Given the description of an element on the screen output the (x, y) to click on. 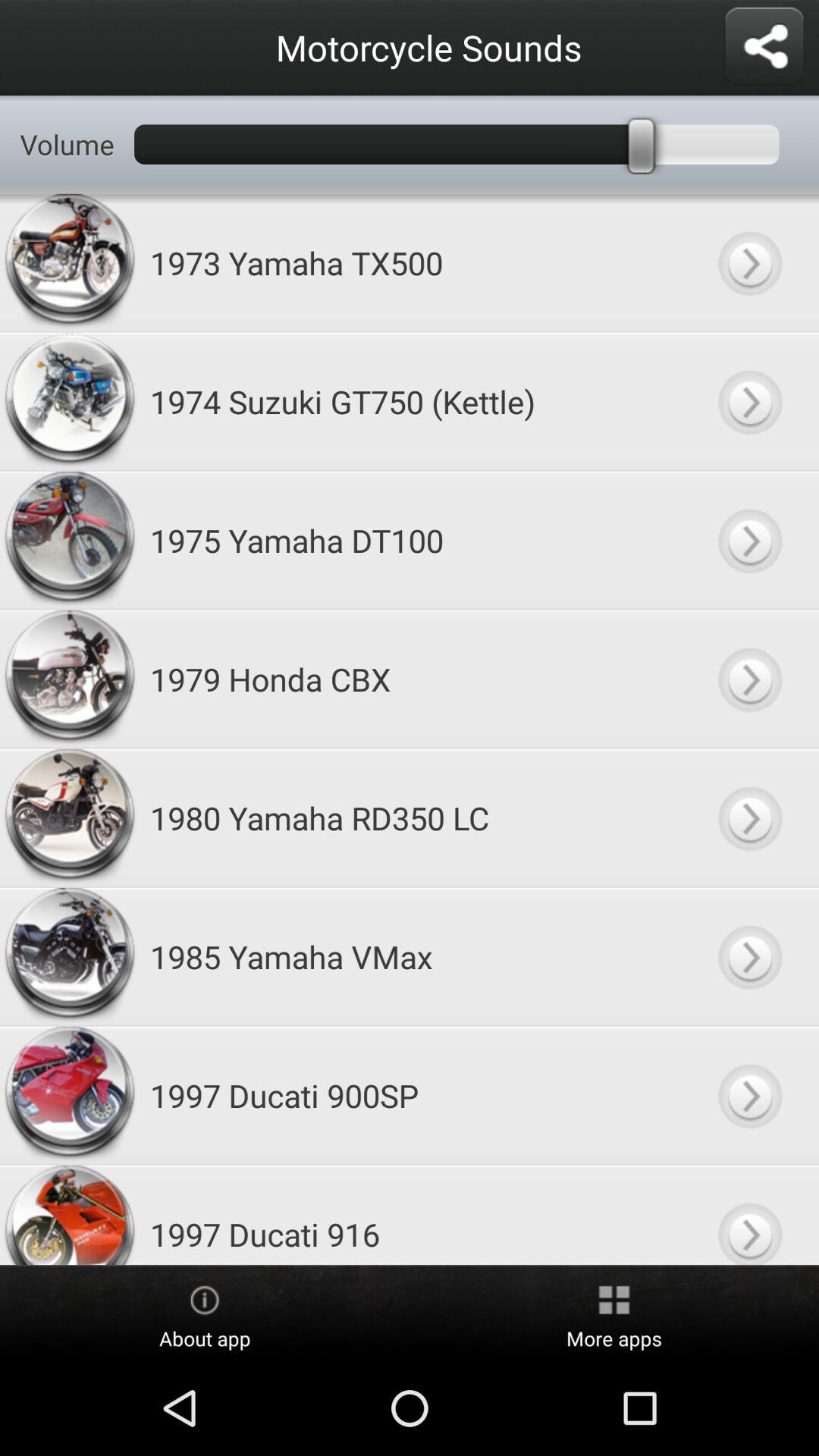
toggle sound (749, 262)
